Given the description of an element on the screen output the (x, y) to click on. 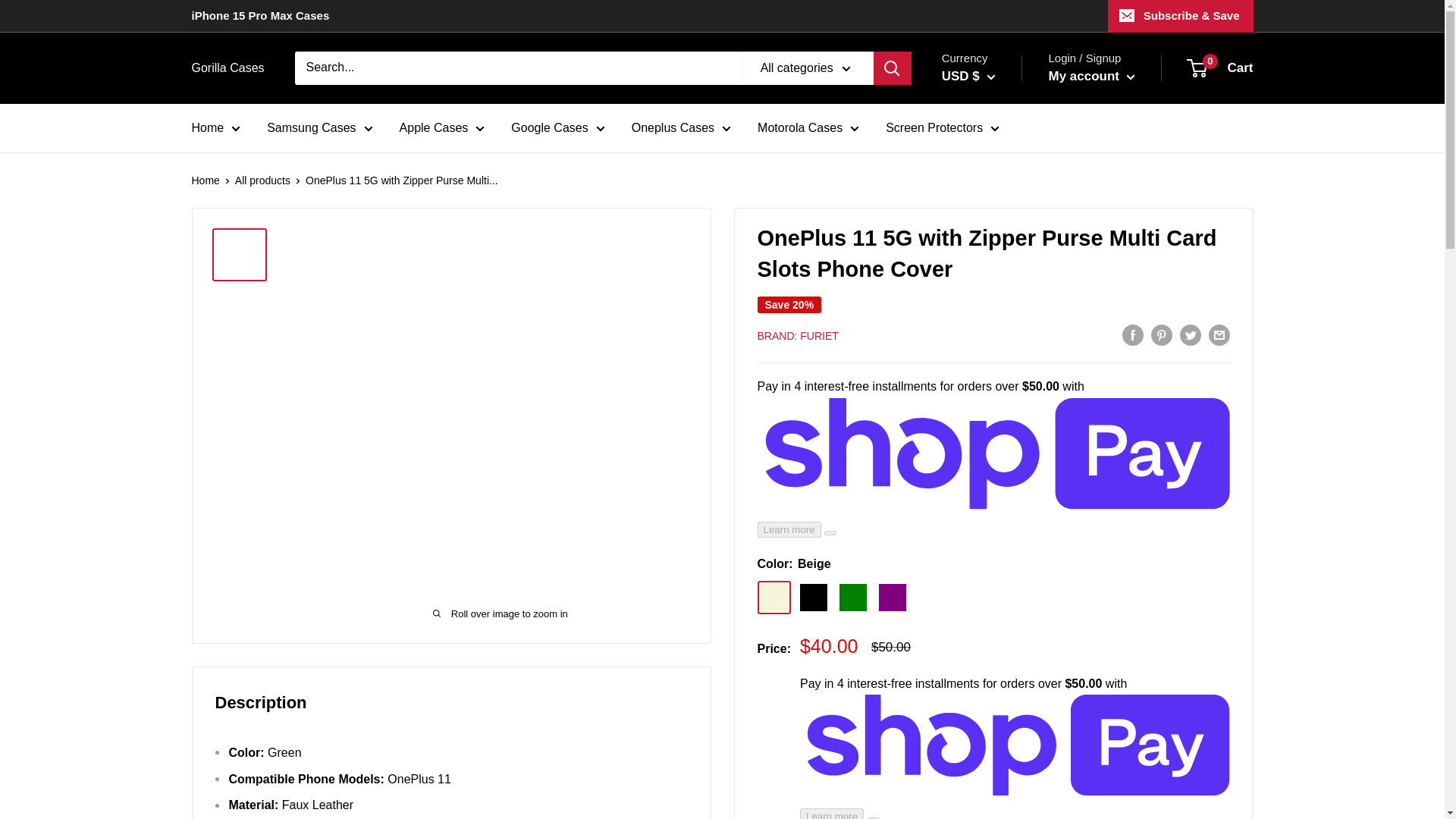
Beige (773, 596)
Black (813, 596)
Purple (891, 596)
iPhone 15 Pro Max Cases (259, 15)
Green (852, 596)
